Given the description of an element on the screen output the (x, y) to click on. 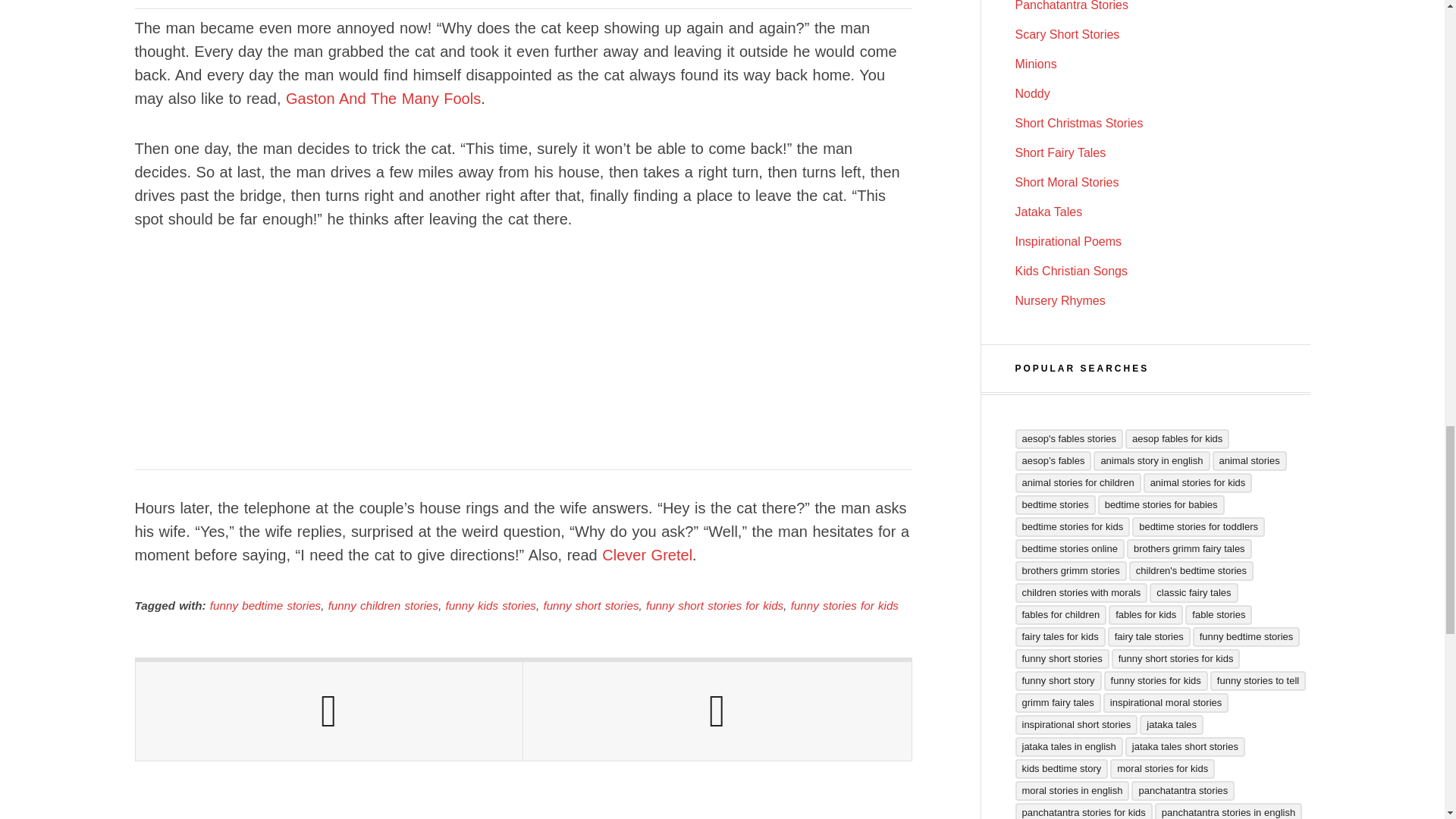
Next Post (716, 710)
Previous Post (328, 710)
Advertisement (523, 4)
